Given the description of an element on the screen output the (x, y) to click on. 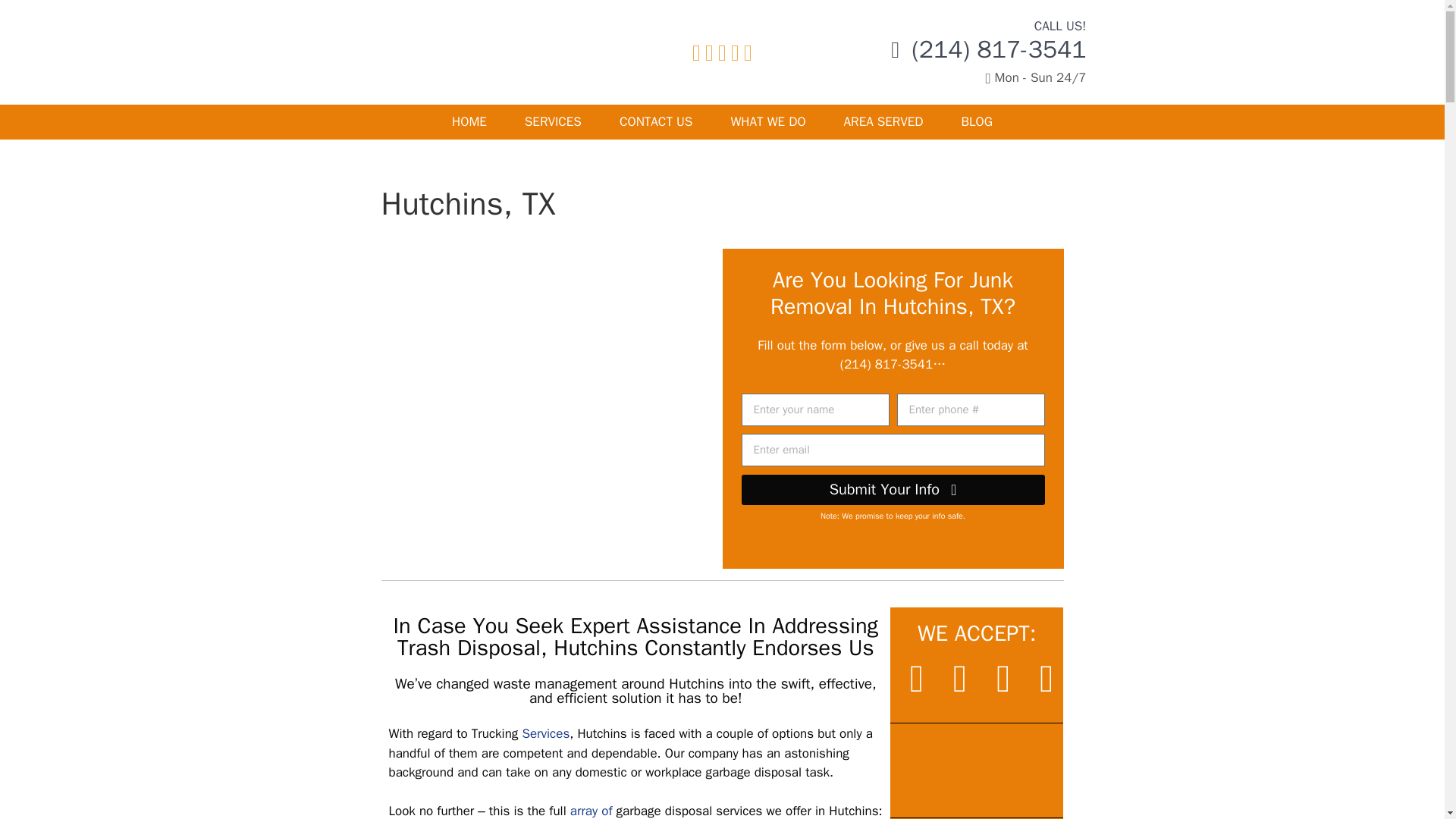
SERVICES (552, 121)
HOME (468, 121)
